Given the description of an element on the screen output the (x, y) to click on. 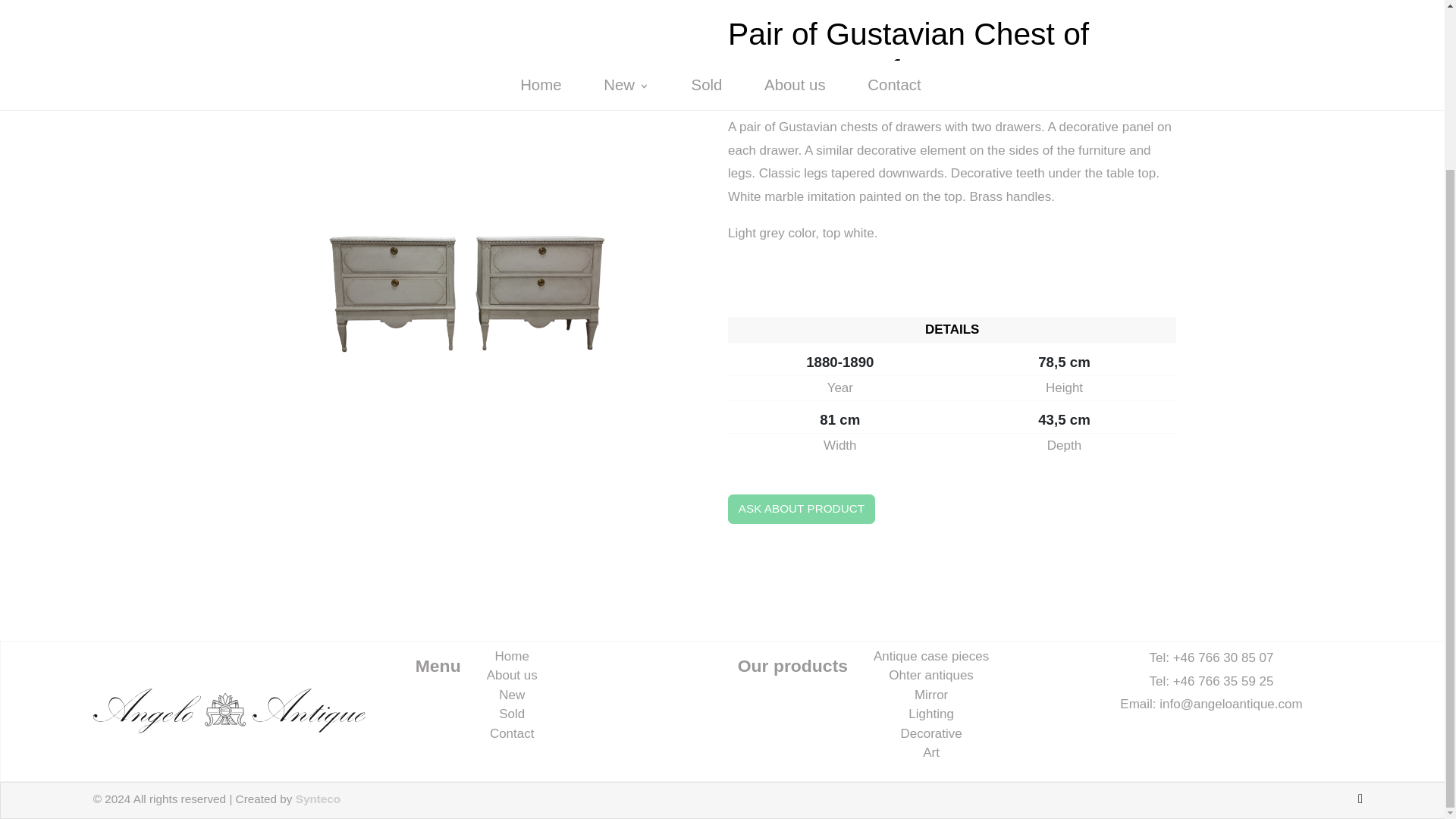
About us (511, 675)
Contact (511, 733)
New (511, 694)
ASK ABOUT PRODUCT (801, 509)
Home (512, 656)
Lighting (930, 713)
Sold (511, 713)
Antique case pieces (930, 656)
Synteco (317, 798)
Mirror (930, 694)
